Given the description of an element on the screen output the (x, y) to click on. 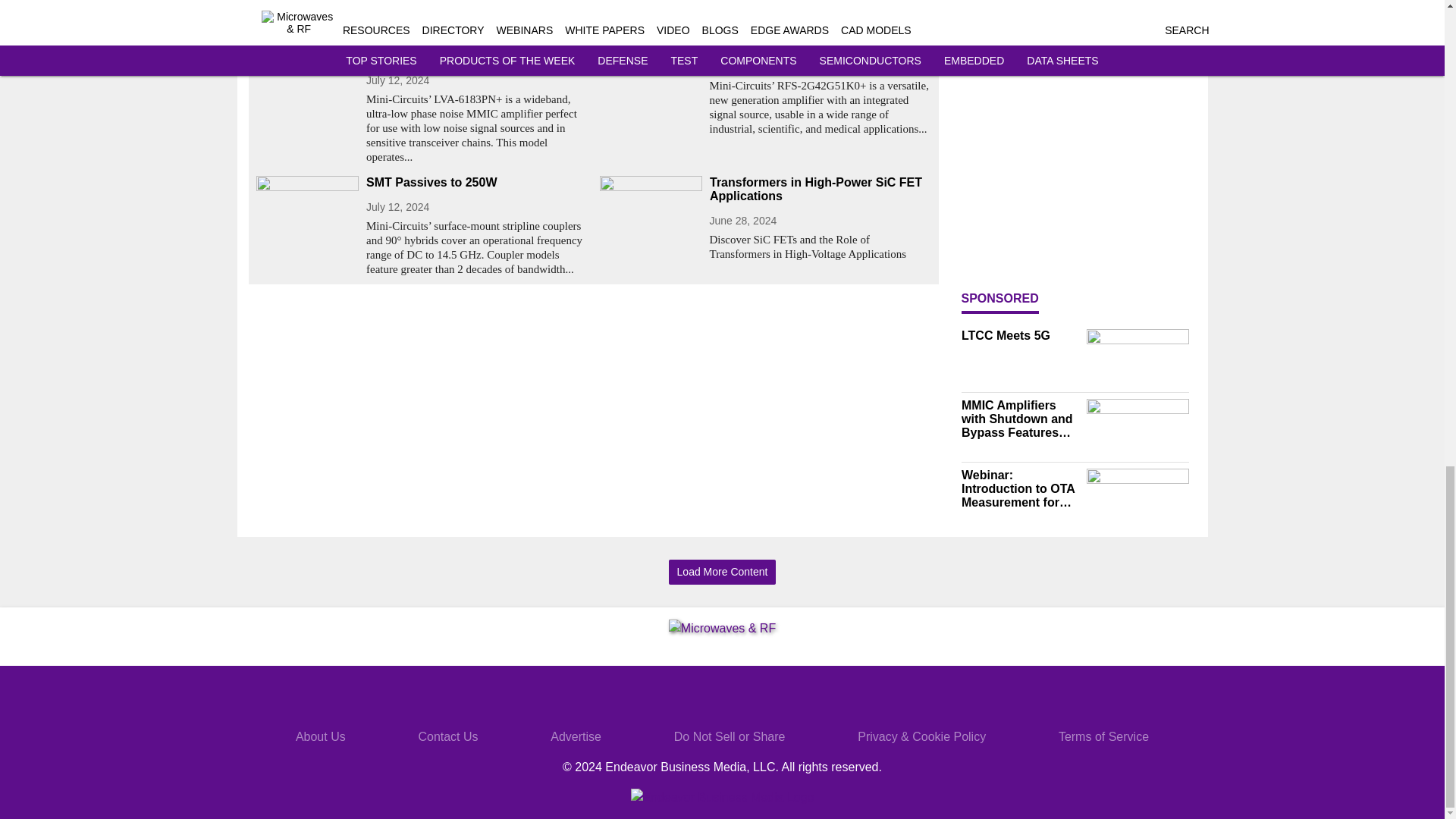
Ultra-Low Phase Noise MMIC Amplifier, 6 to 18 GHz (476, 49)
Transformers in High-Power SiC FET Applications (820, 189)
SMT Passives to 250W (476, 182)
